Given the description of an element on the screen output the (x, y) to click on. 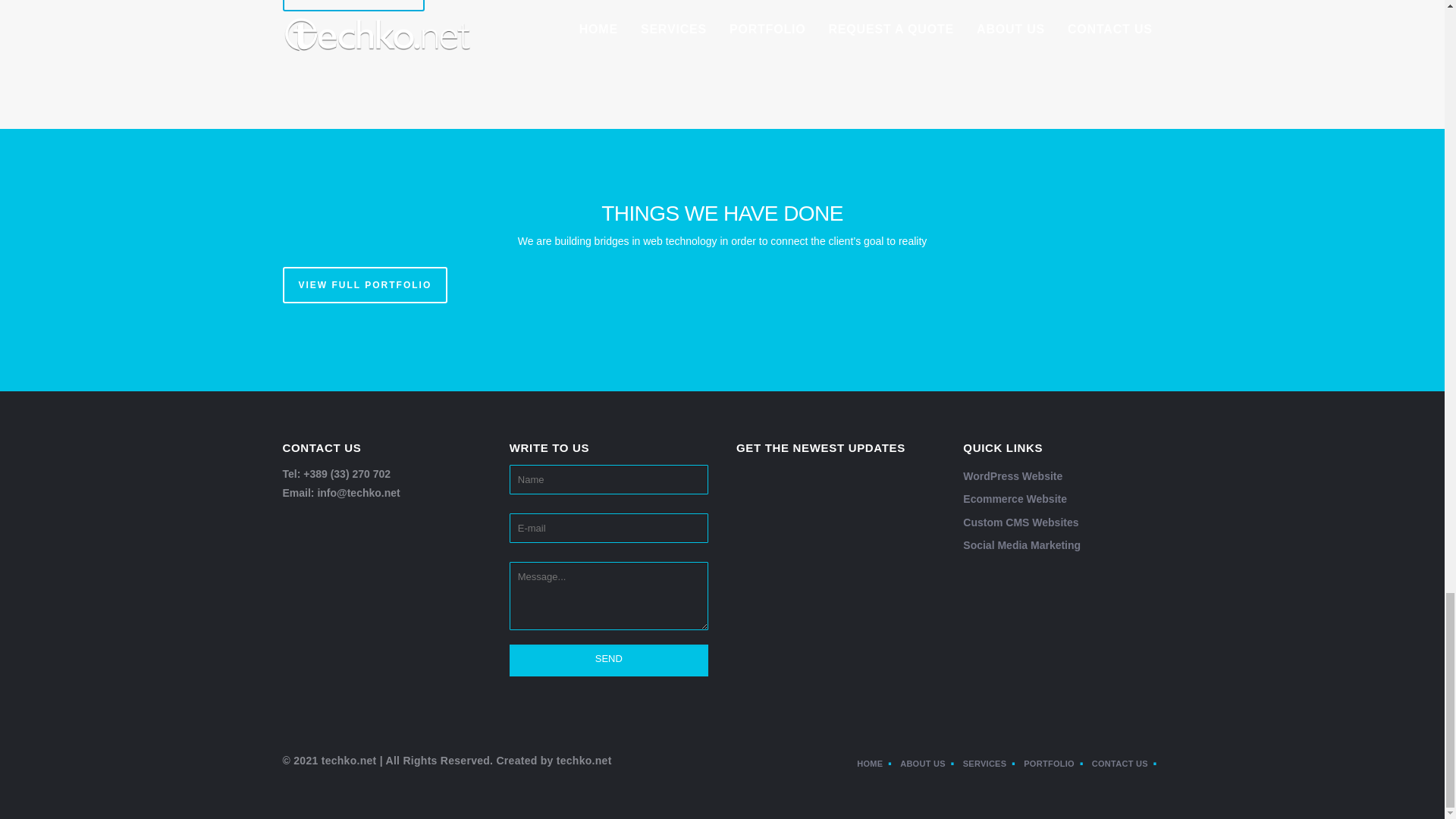
WordPress Website (1012, 476)
PORTFOLIO (1055, 763)
VIEW FULL PORTFOLIO (364, 284)
Send (608, 660)
SERVICES (991, 763)
CONTACT US (1126, 763)
Custom CMS Websites (1020, 522)
HOME (876, 763)
REQUEST A QUOTE (352, 5)
Ecommerce Website (1014, 499)
ABOUT US (929, 763)
Social Media Marketing (1021, 544)
Send (608, 660)
